Given the description of an element on the screen output the (x, y) to click on. 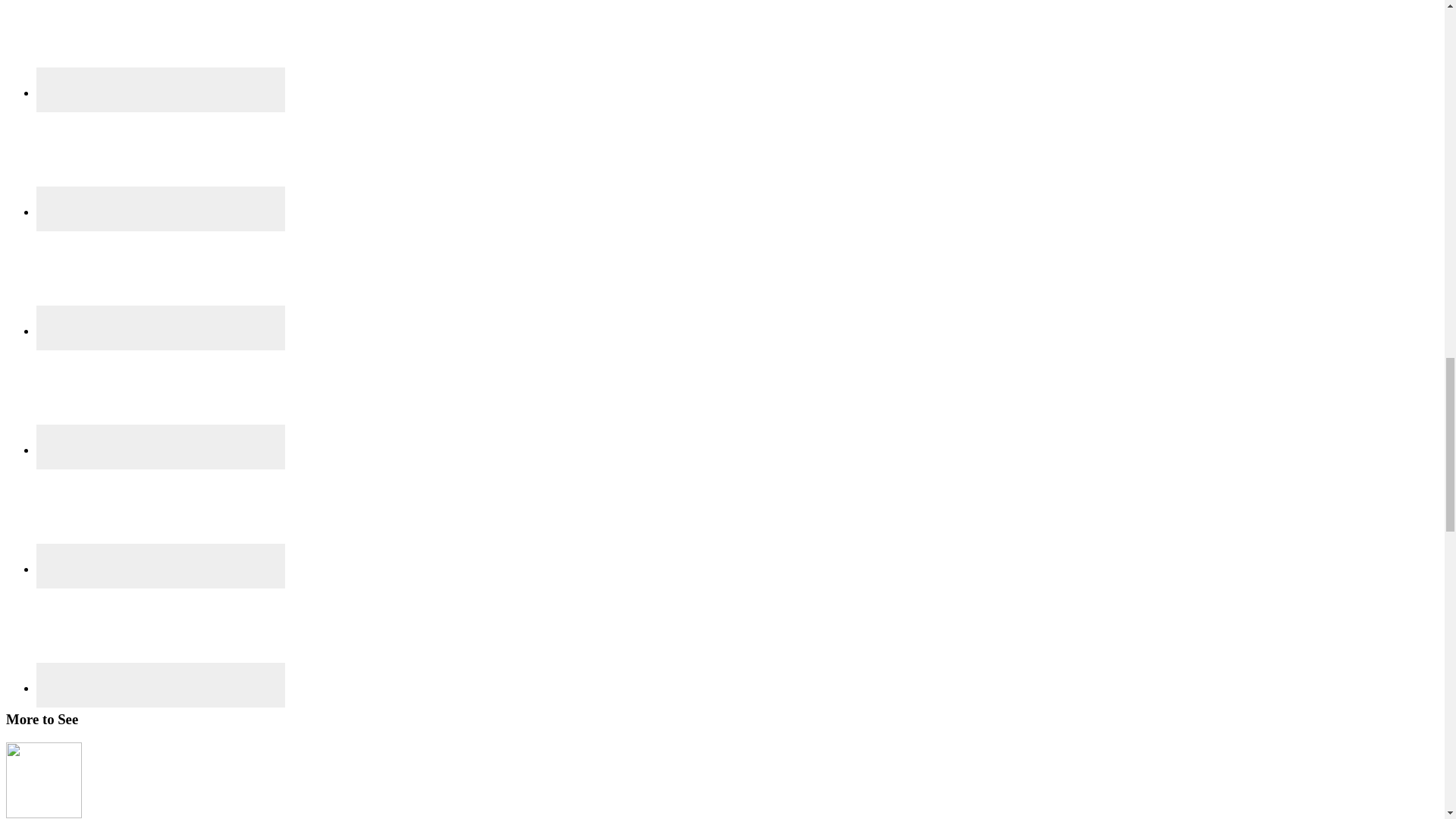
Facebook (160, 89)
YouTube (160, 635)
Instagram (160, 327)
Pinterest (160, 397)
GitHub (160, 208)
Facebook (160, 48)
GitHub (160, 159)
Instagram (160, 277)
Twitter (160, 516)
